Given the description of an element on the screen output the (x, y) to click on. 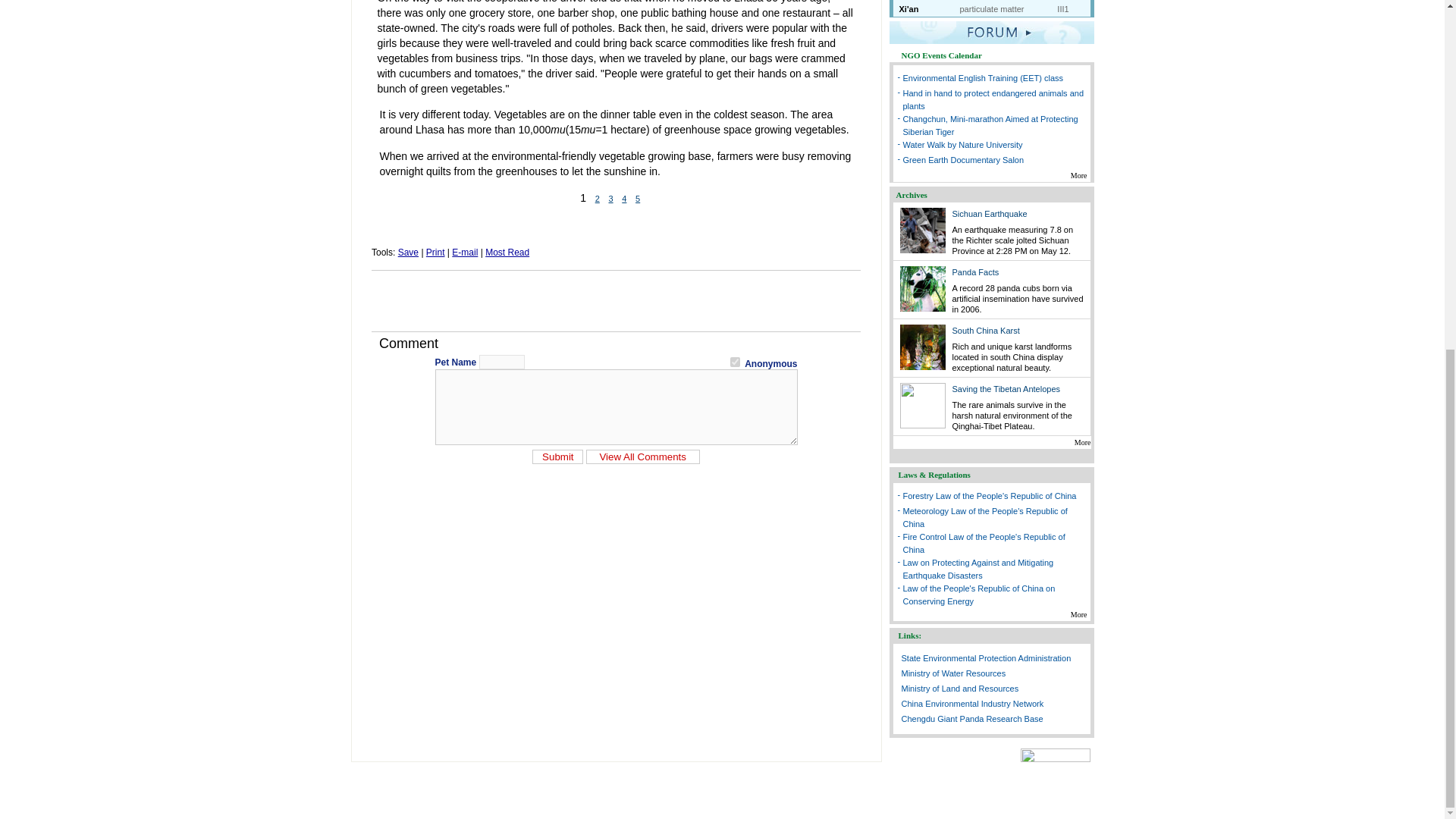
Submit (557, 455)
Print (435, 252)
Most Read (506, 252)
1 (734, 361)
Save (408, 252)
View All Comments (643, 455)
E-mail (464, 252)
